Given the description of an element on the screen output the (x, y) to click on. 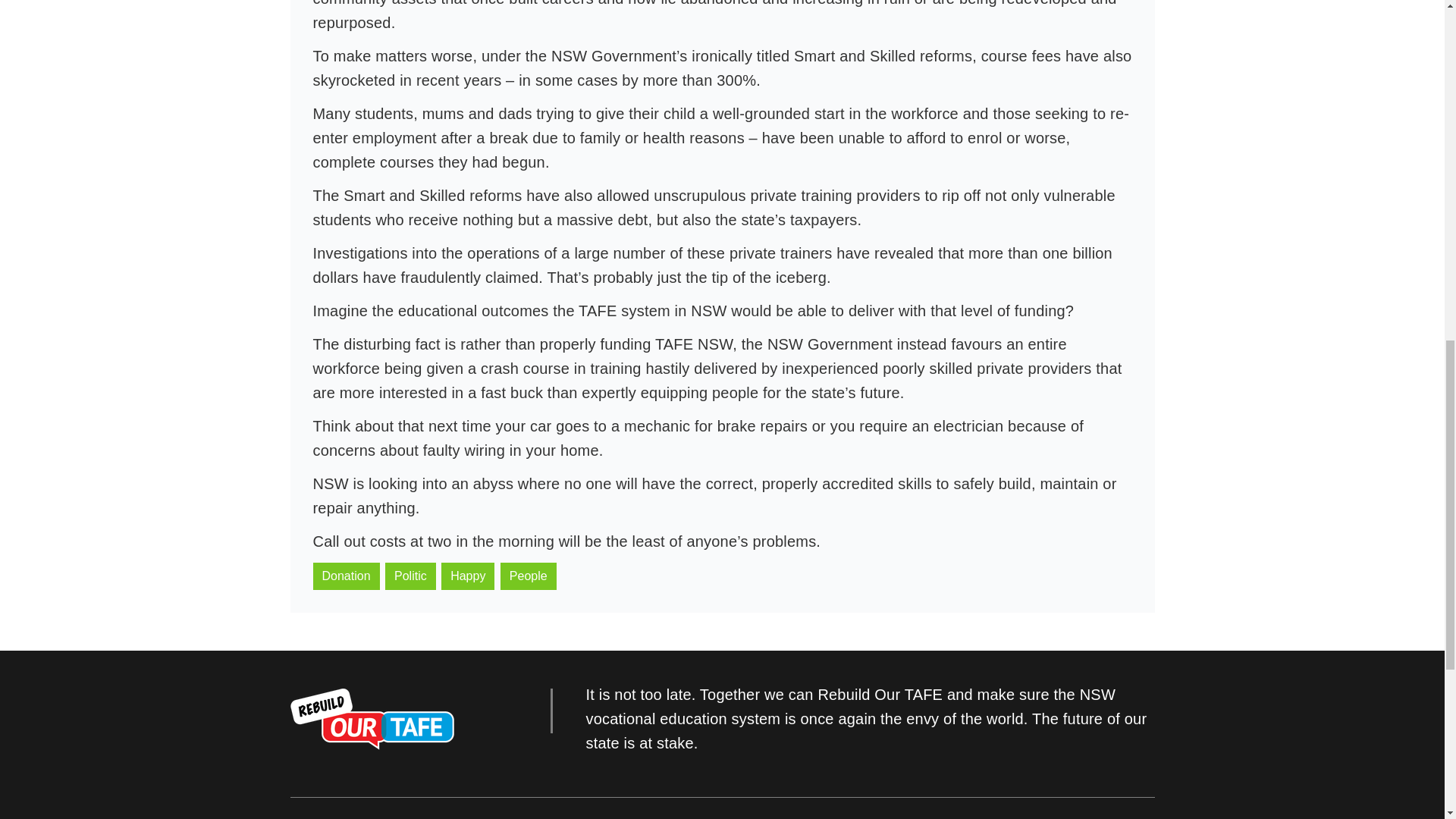
People (528, 575)
Donation (345, 575)
Happy (468, 575)
Politic (410, 575)
